Given the description of an element on the screen output the (x, y) to click on. 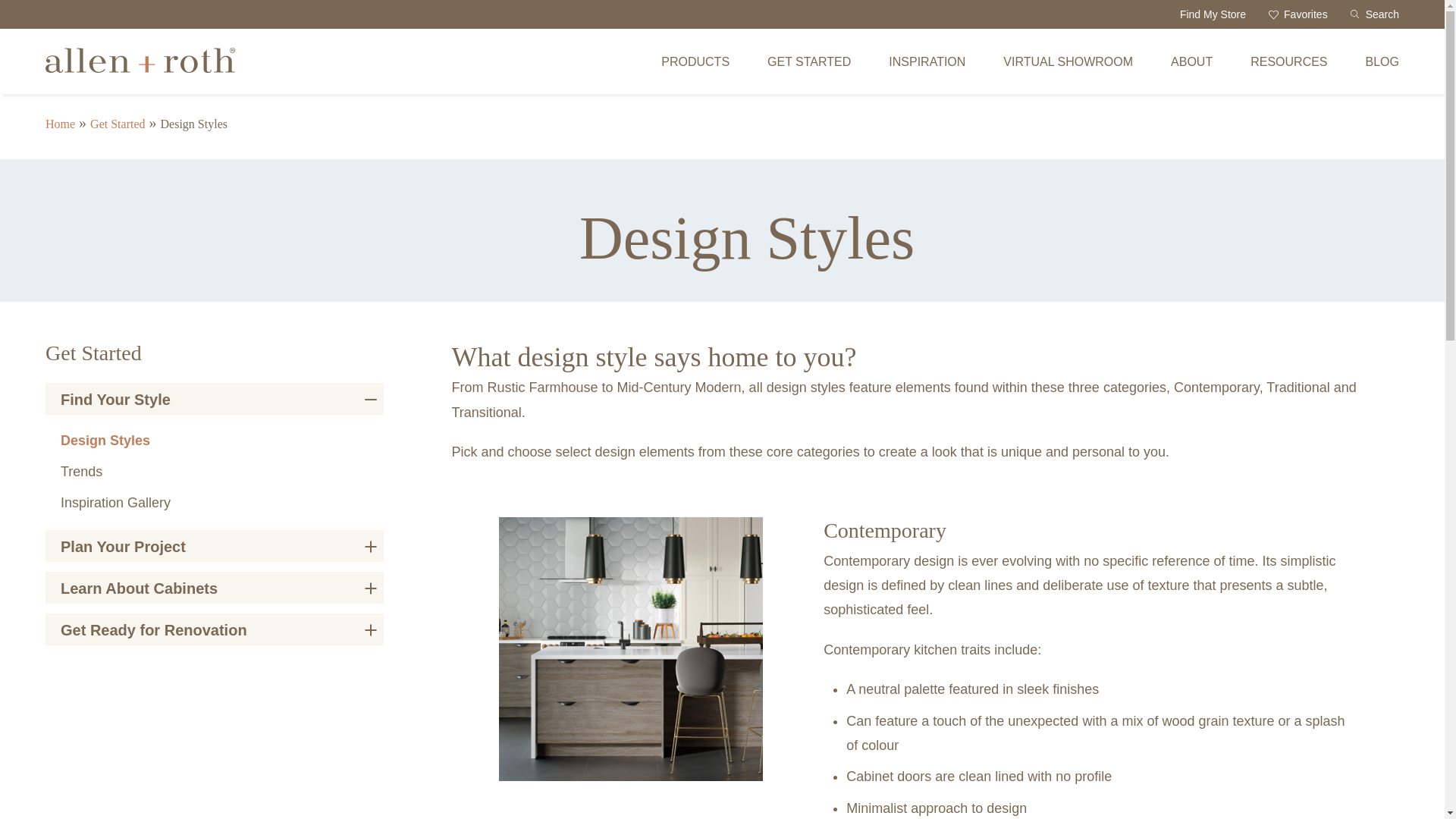
Favorites (1297, 14)
INSPIRATION (926, 61)
Trends (81, 471)
GET STARTED (808, 61)
BLOG (1382, 61)
Home (60, 123)
PRODUCTS (695, 61)
Get Started (117, 123)
Design Styles (139, 68)
Inspiration Gallery (115, 502)
